Given the description of an element on the screen output the (x, y) to click on. 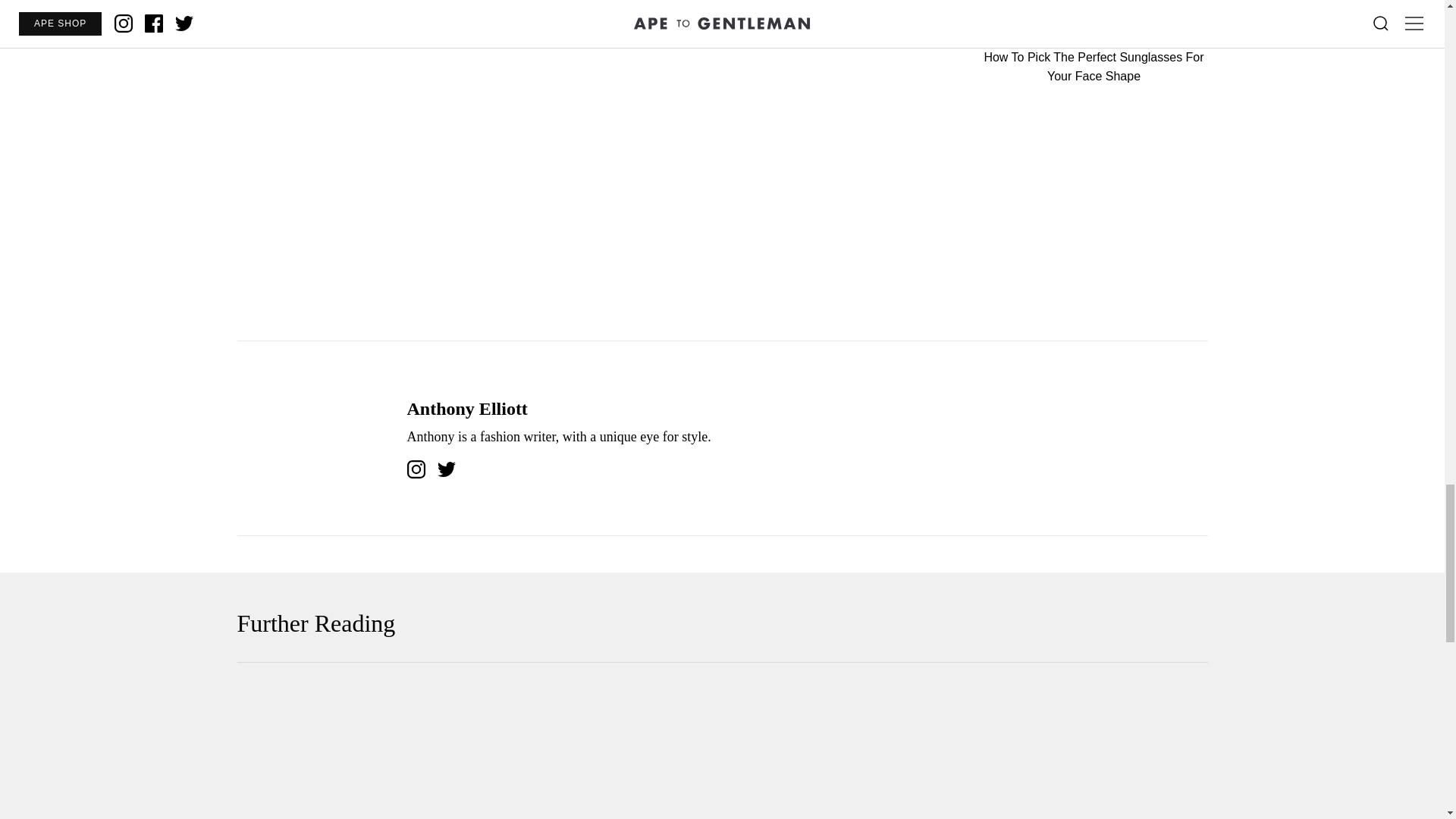
How To Pick The Perfect Sunglasses For Your Face Shape (1093, 43)
Anthony Elliott (466, 408)
Sharp Shorts: The Best Tailored Swim Shorts Brands (391, 753)
Instagram (415, 469)
22 Minimal Clothing Brands For Men Who Hate Logos (1052, 753)
Sharp Shorts: The Best Tailored Swim Shorts Brands (391, 753)
How To Pick The Perfect Sunglasses For Your Face Shape (721, 753)
Twitter (445, 469)
